Given the description of an element on the screen output the (x, y) to click on. 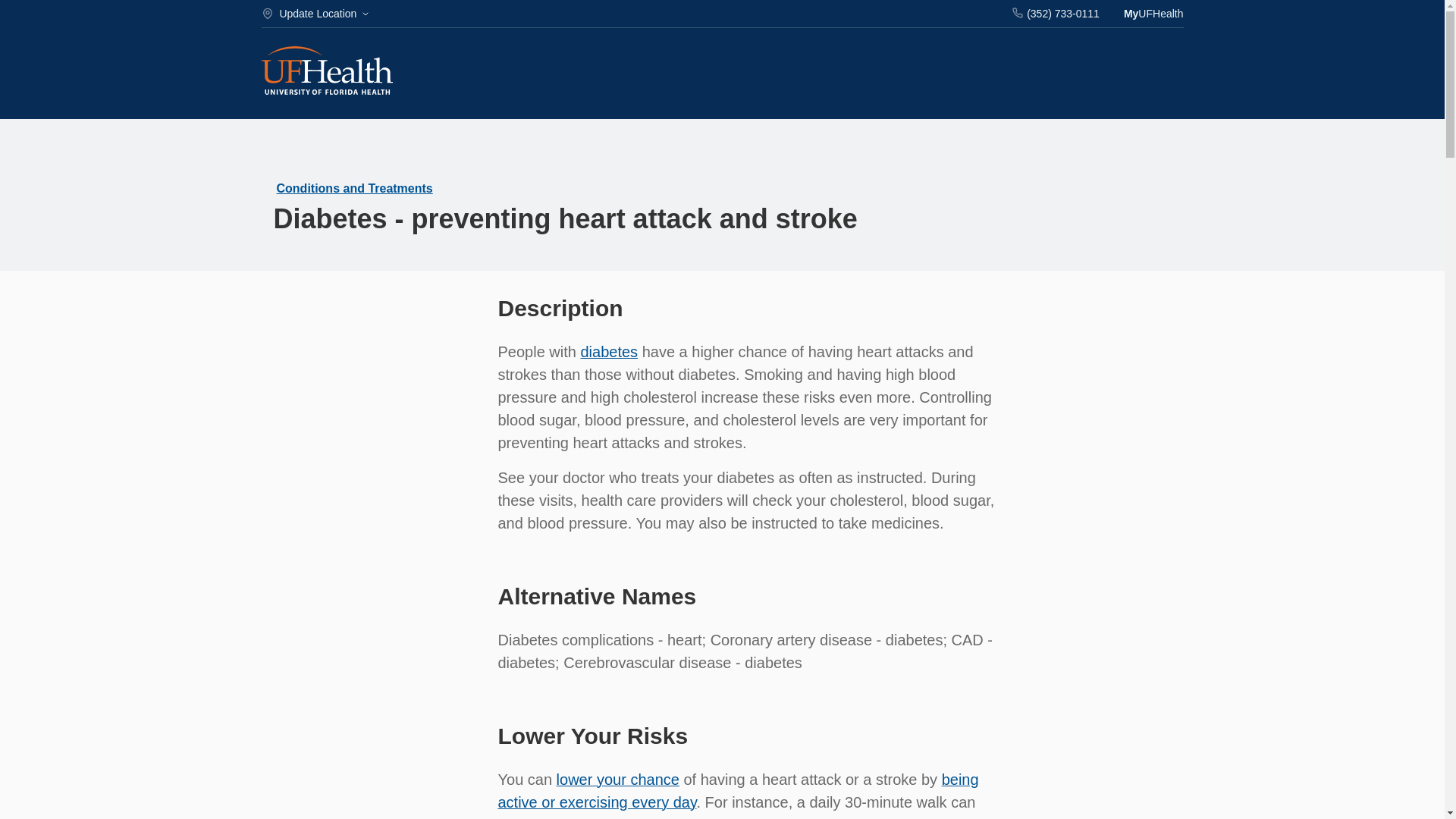
diabetes (608, 351)
being active or exercising every day (737, 790)
Conditions and Treatments (354, 187)
lower your chance (617, 779)
UF Health Home (325, 72)
MyUFHealth (1153, 13)
